Given the description of an element on the screen output the (x, y) to click on. 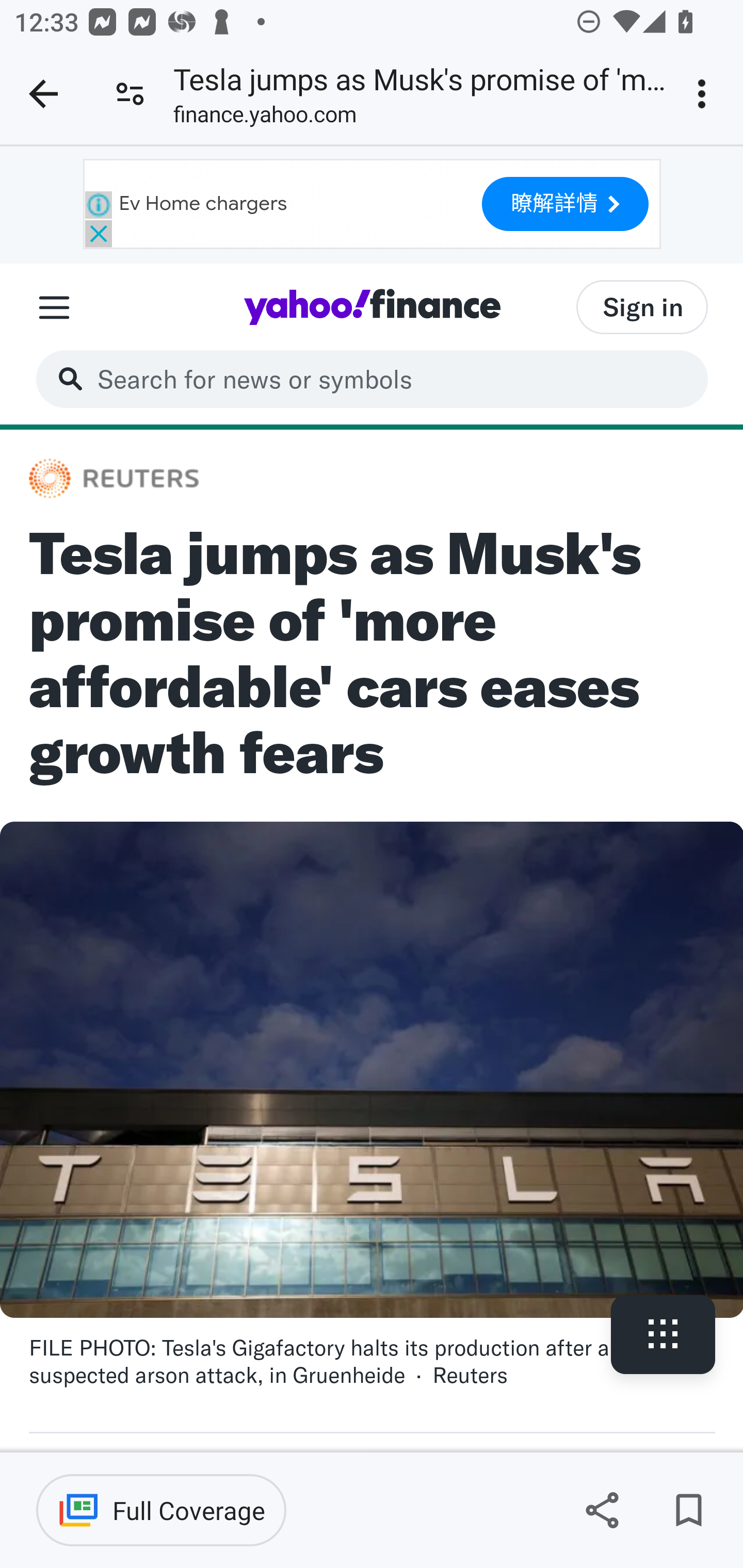
Close tab (43, 93)
Customize and control Google Chrome (705, 93)
Connection is secure (129, 93)
finance.yahoo.com (264, 117)
瞭解詳情 (565, 204)
Yahoo Finance (372, 306)
Sign in (641, 306)
Y! Sites (54, 307)
Reuters (113, 478)
Full Coverage (161, 1509)
Share (601, 1510)
Save for later (688, 1510)
